Given the description of an element on the screen output the (x, y) to click on. 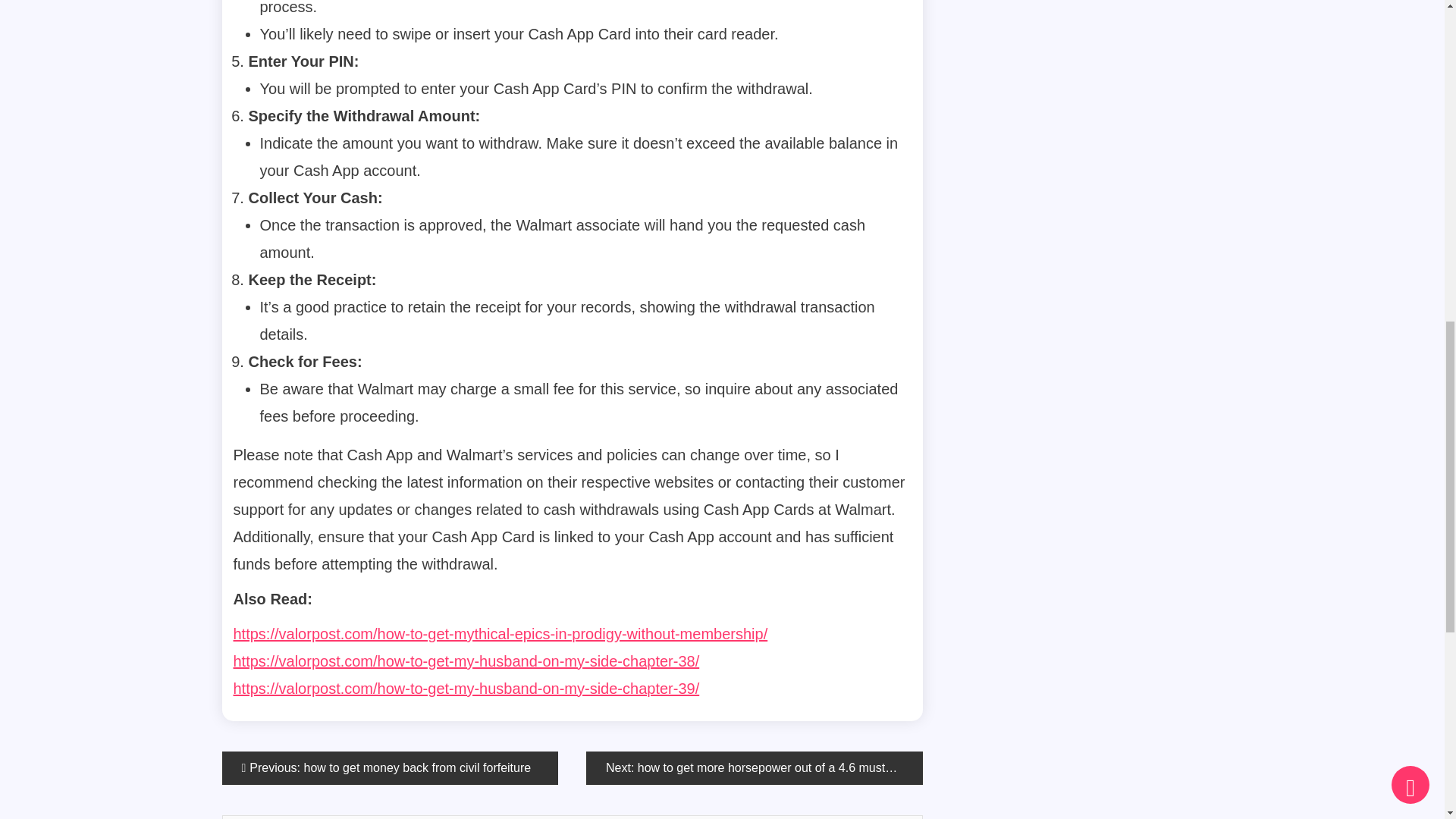
Previous: how to get money back from civil forfeiture (389, 767)
Next: how to get more horsepower out of a 4.6 mustang (754, 767)
